Given the description of an element on the screen output the (x, y) to click on. 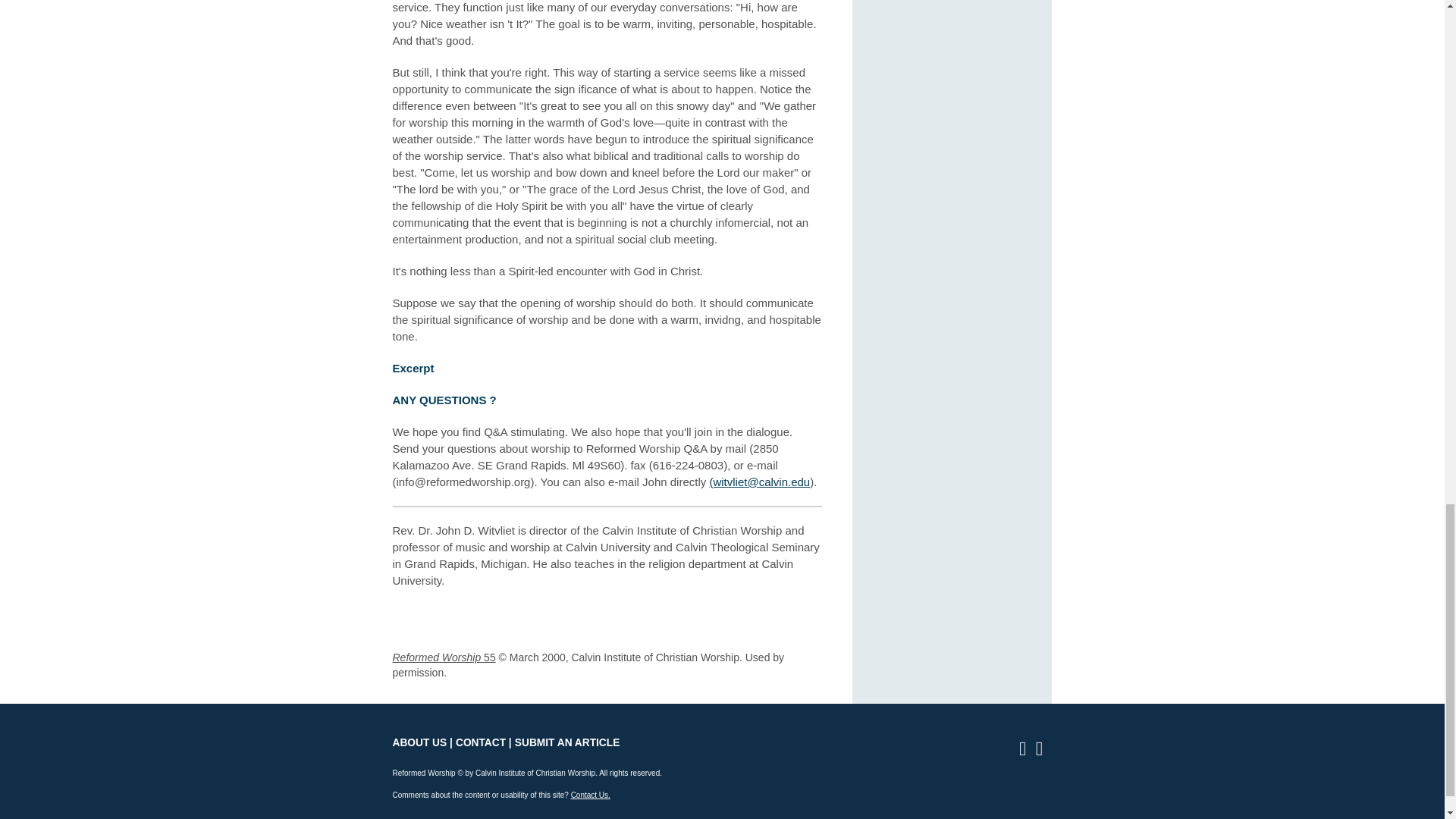
ABOUT US (419, 742)
CONTACT (480, 742)
SUBMIT AN ARTICLE (567, 742)
Twitter (1043, 750)
Reformed Worship 55 (444, 657)
